Given the description of an element on the screen output the (x, y) to click on. 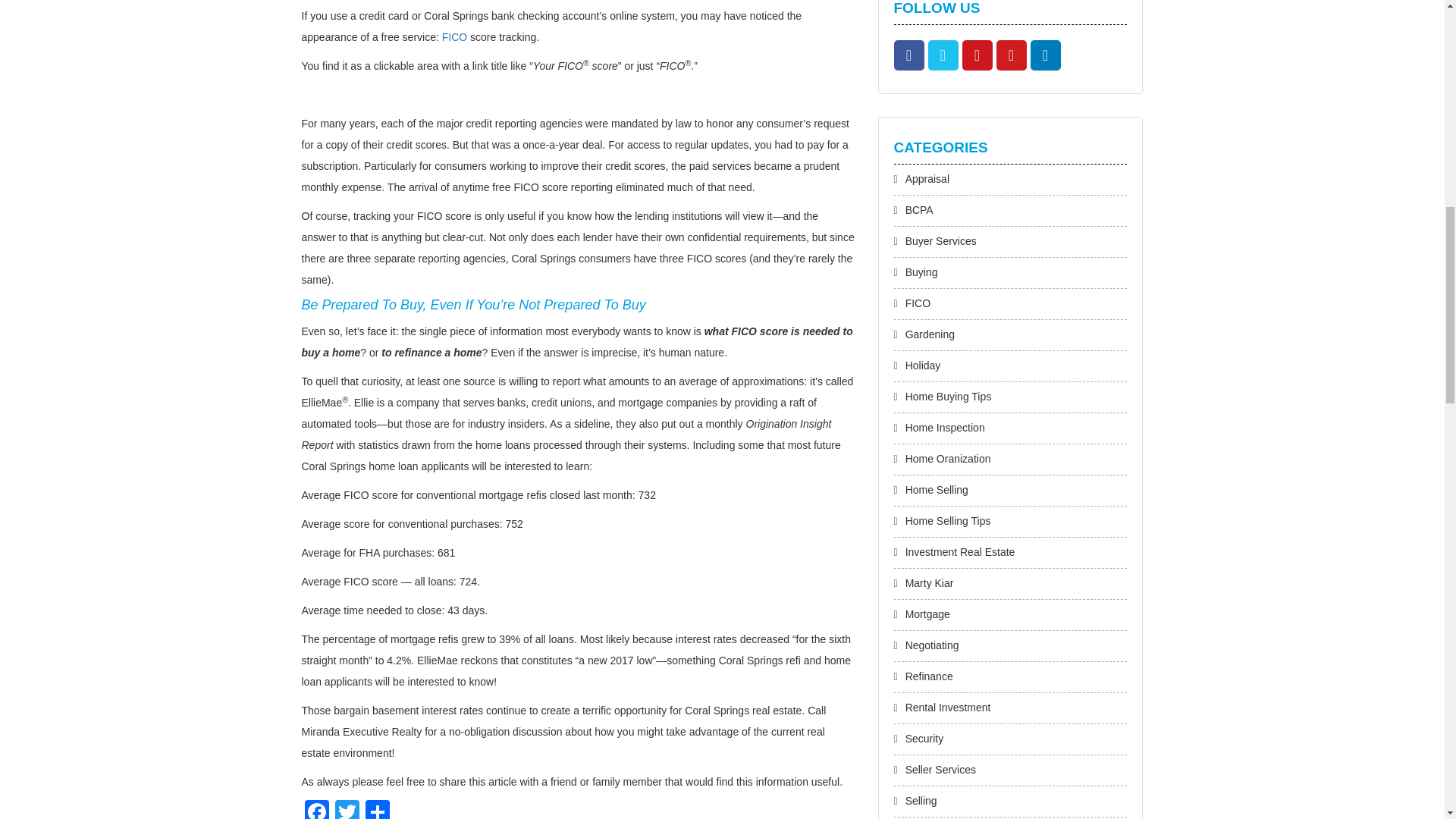
Twitter (346, 809)
Facebook (316, 809)
Facebook (316, 809)
FICO (454, 37)
Twitter (346, 809)
